Given the description of an element on the screen output the (x, y) to click on. 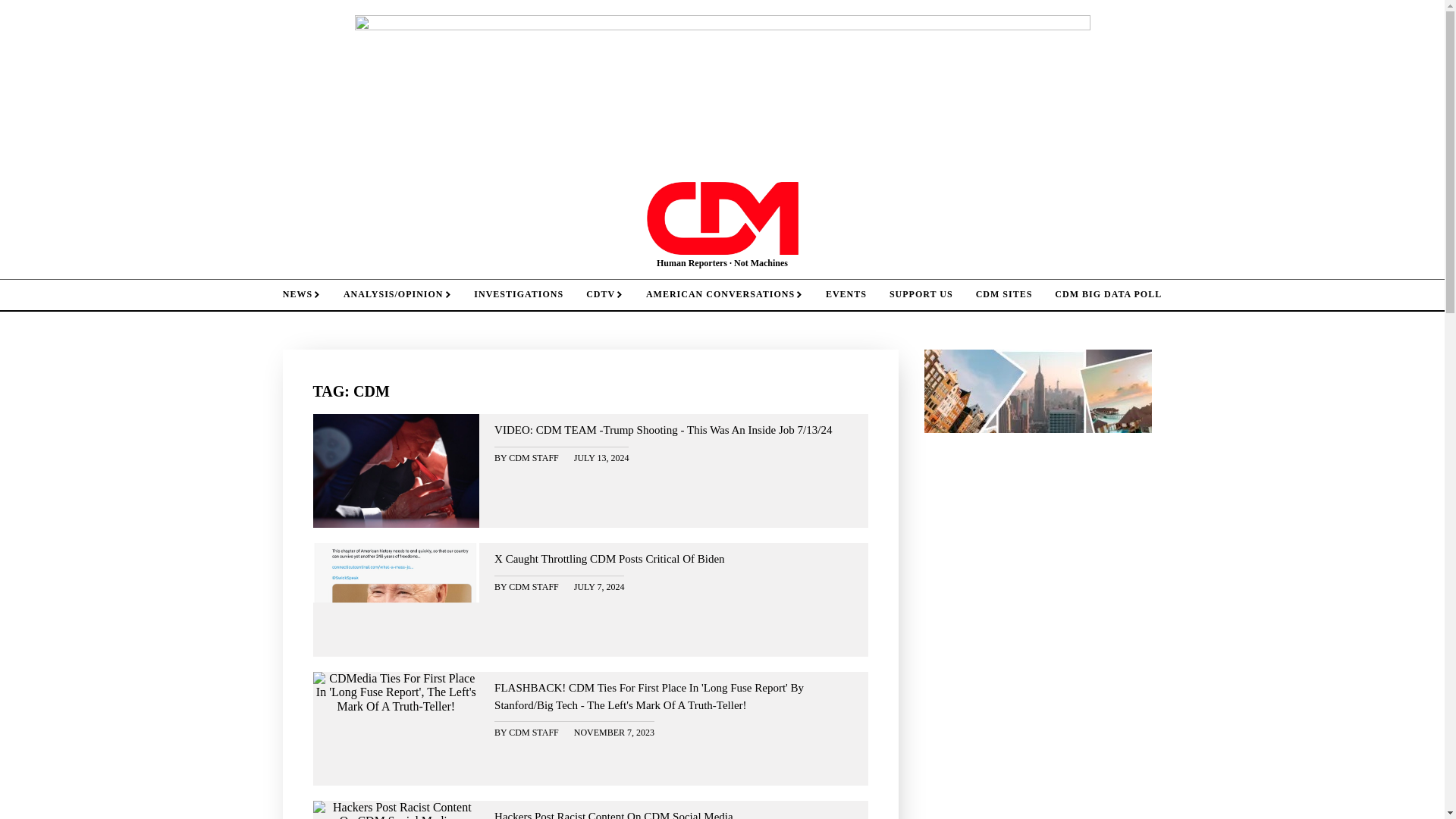
CDTV (604, 294)
AMERICAN CONVERSATIONS (723, 294)
NEWS (300, 294)
INVESTIGATIONS (519, 294)
